Given the description of an element on the screen output the (x, y) to click on. 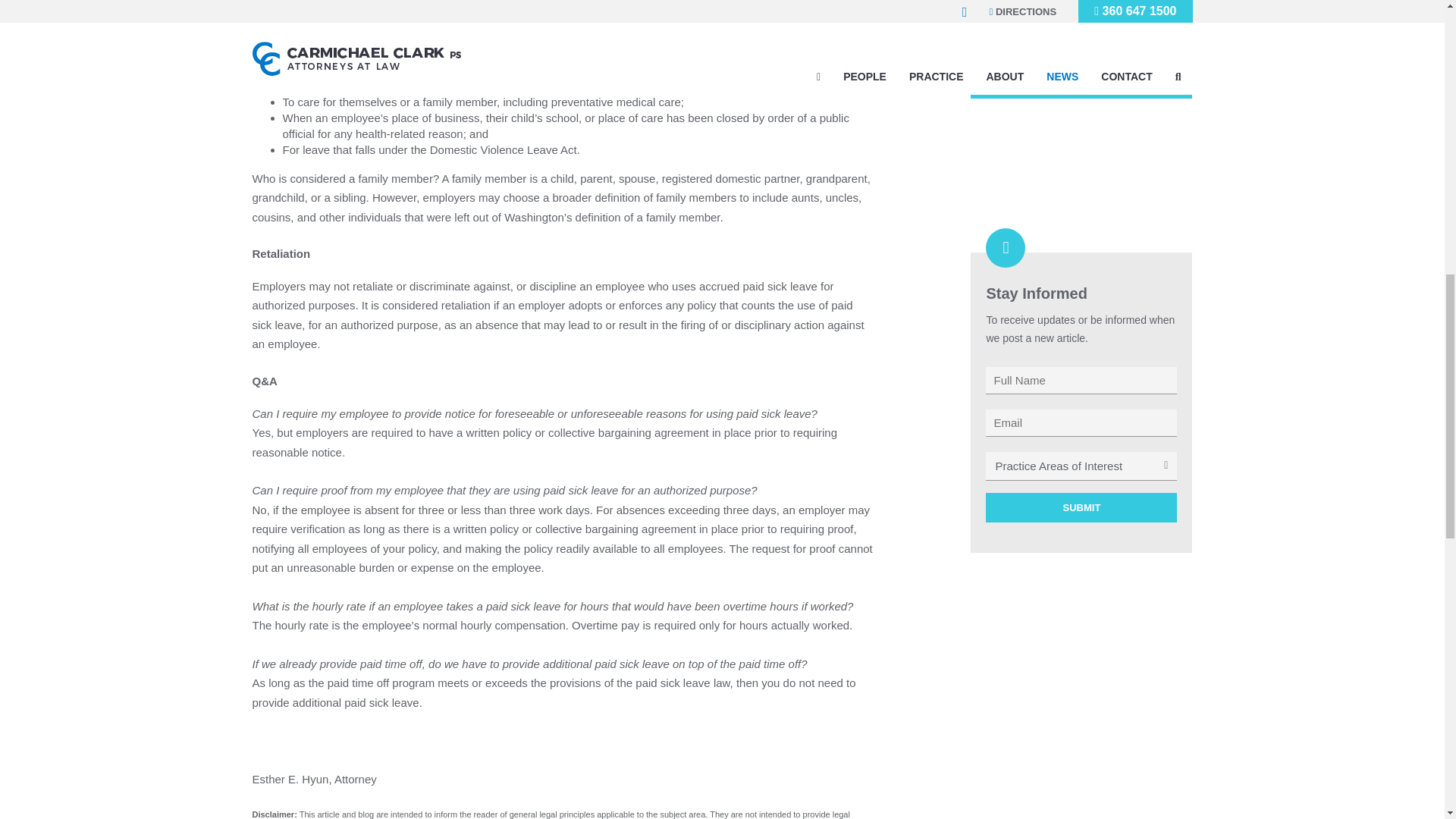
Submit (1080, 508)
